Given the description of an element on the screen output the (x, y) to click on. 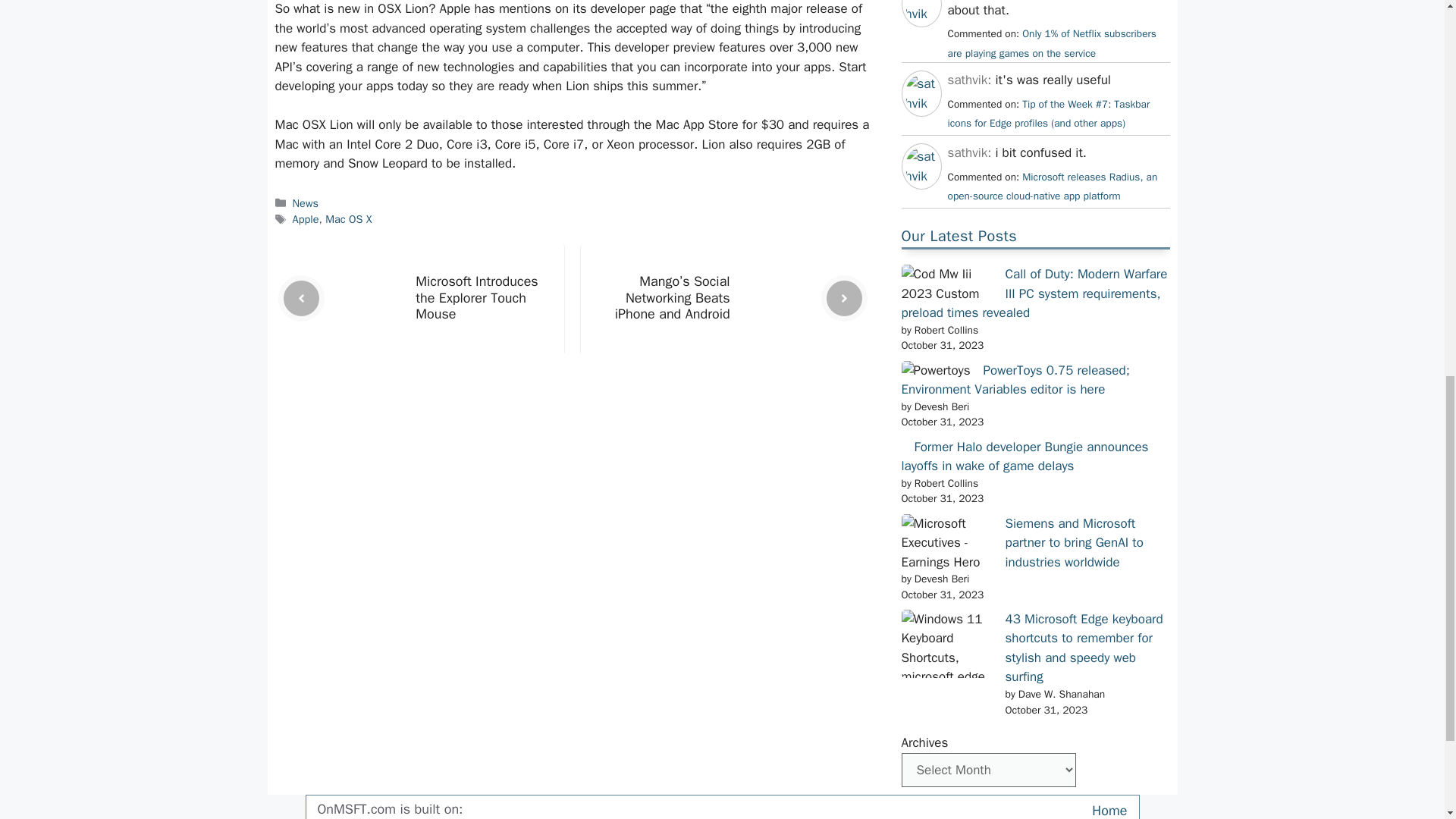
sathvik (920, 103)
June 15, 2024 (1052, 186)
sathvik (920, 176)
July 11, 2024 (1051, 43)
sathvik (920, 13)
July 8, 2024 (1048, 113)
